Given the description of an element on the screen output the (x, y) to click on. 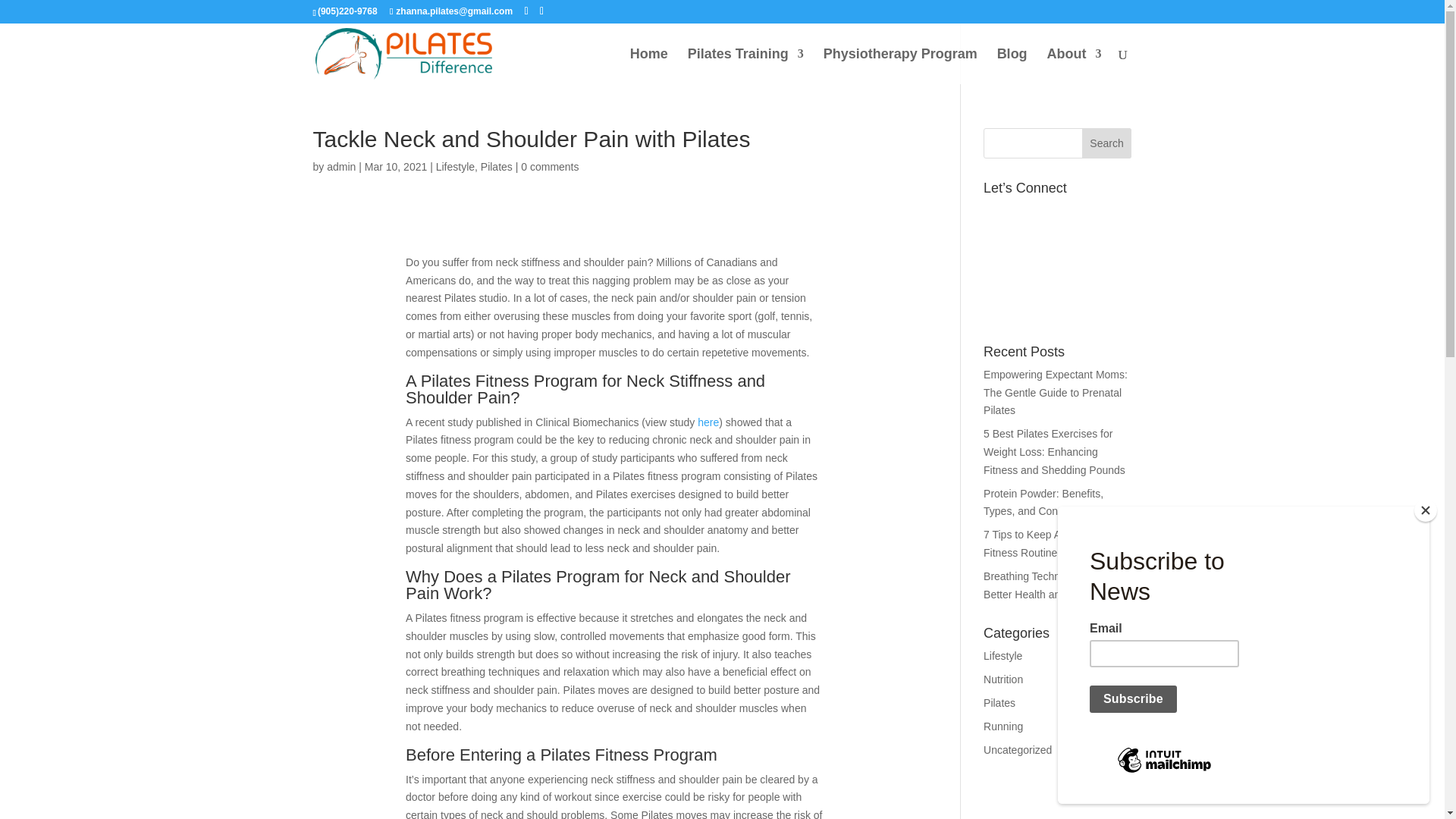
admin (340, 166)
Search (1106, 142)
Pilates (496, 166)
Lifestyle (454, 166)
Home (649, 66)
Posts by admin (340, 166)
here (708, 422)
Pilates Training (745, 66)
Blog (1012, 66)
About (1074, 66)
0 comments (549, 166)
Physiotherapy Program (900, 66)
